Given the description of an element on the screen output the (x, y) to click on. 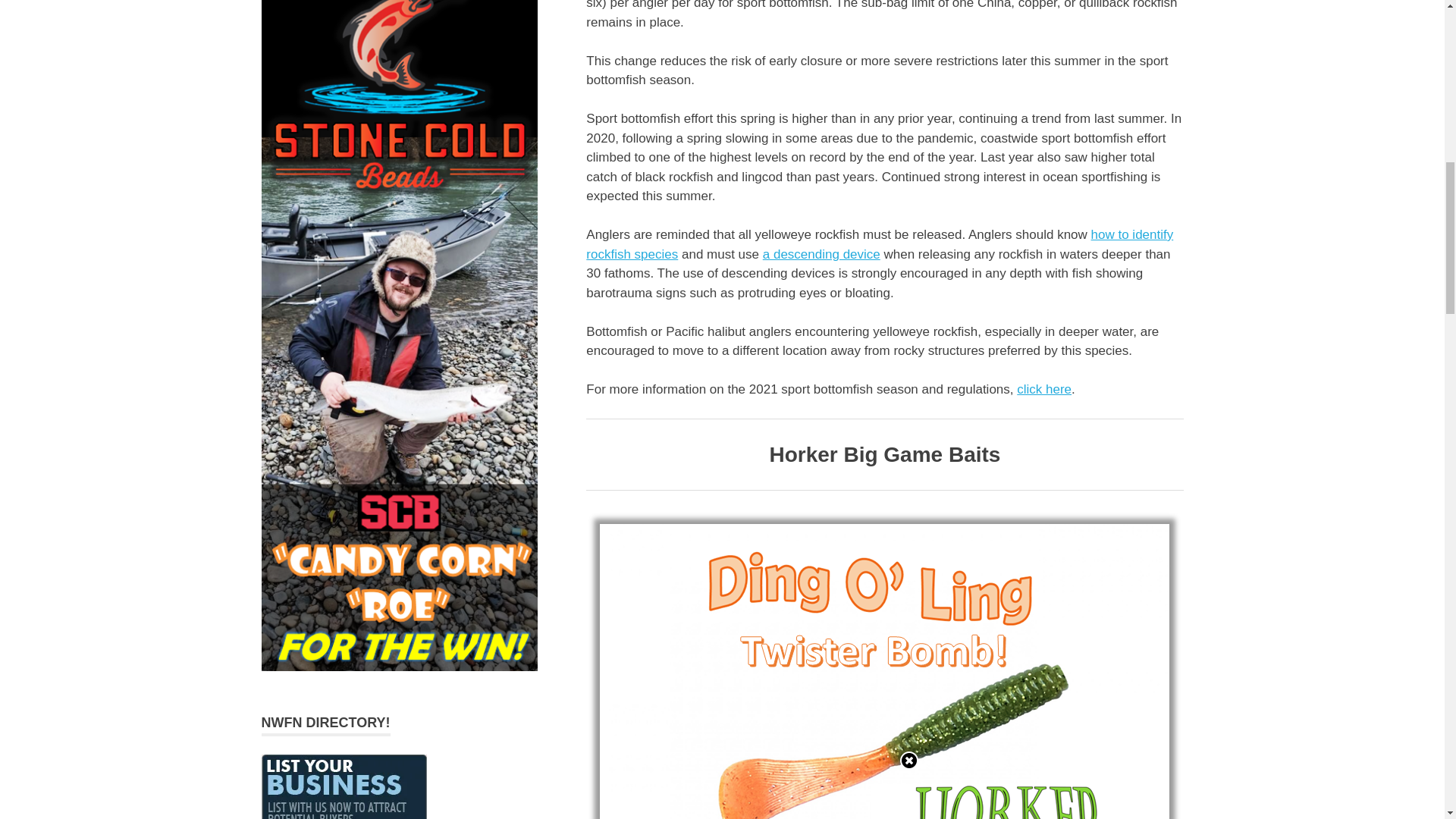
click here (1043, 389)
a descending device (821, 254)
how to identify rockfish species (879, 244)
